Given the description of an element on the screen output the (x, y) to click on. 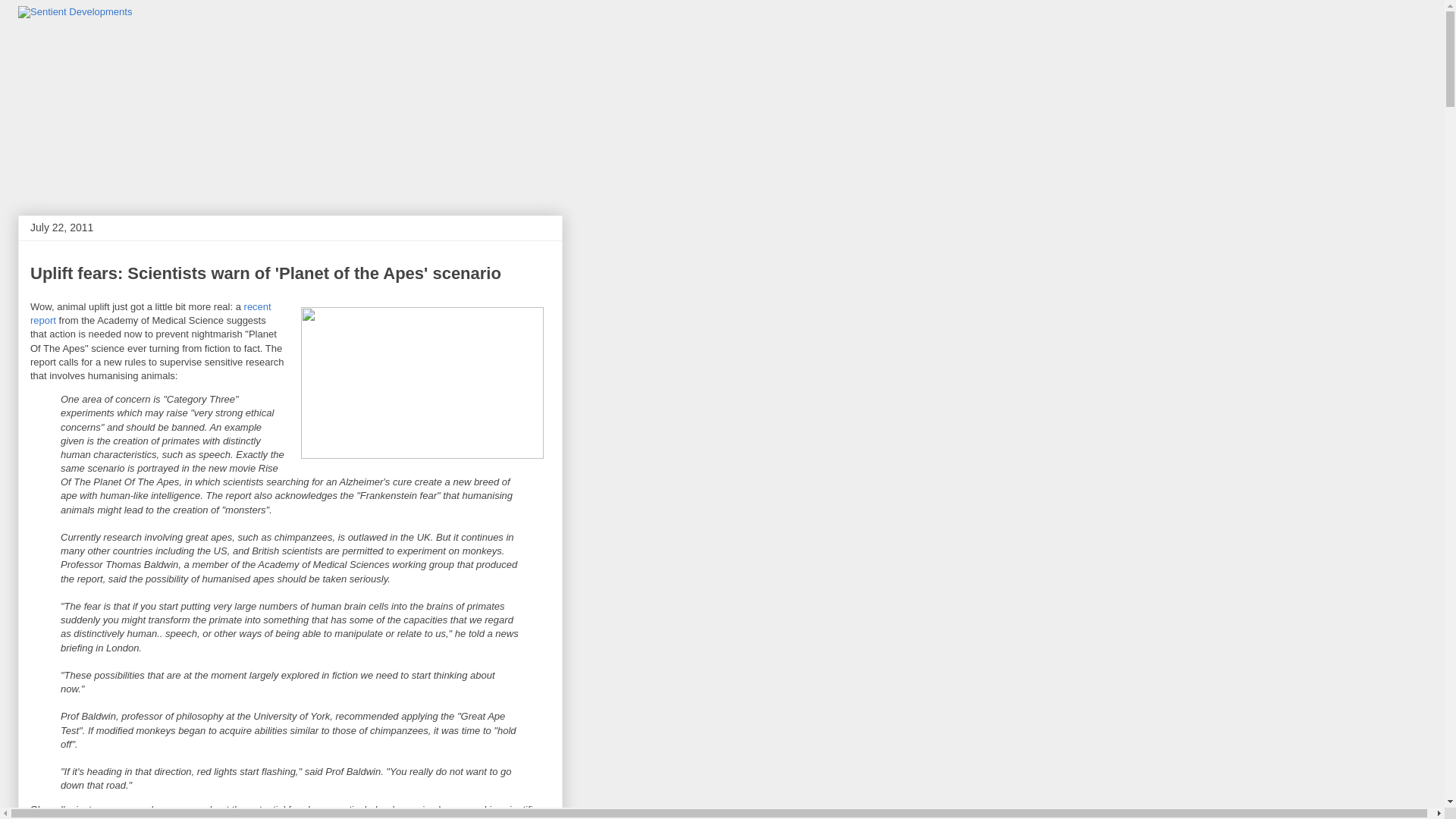
recent report (150, 313)
